Given the description of an element on the screen output the (x, y) to click on. 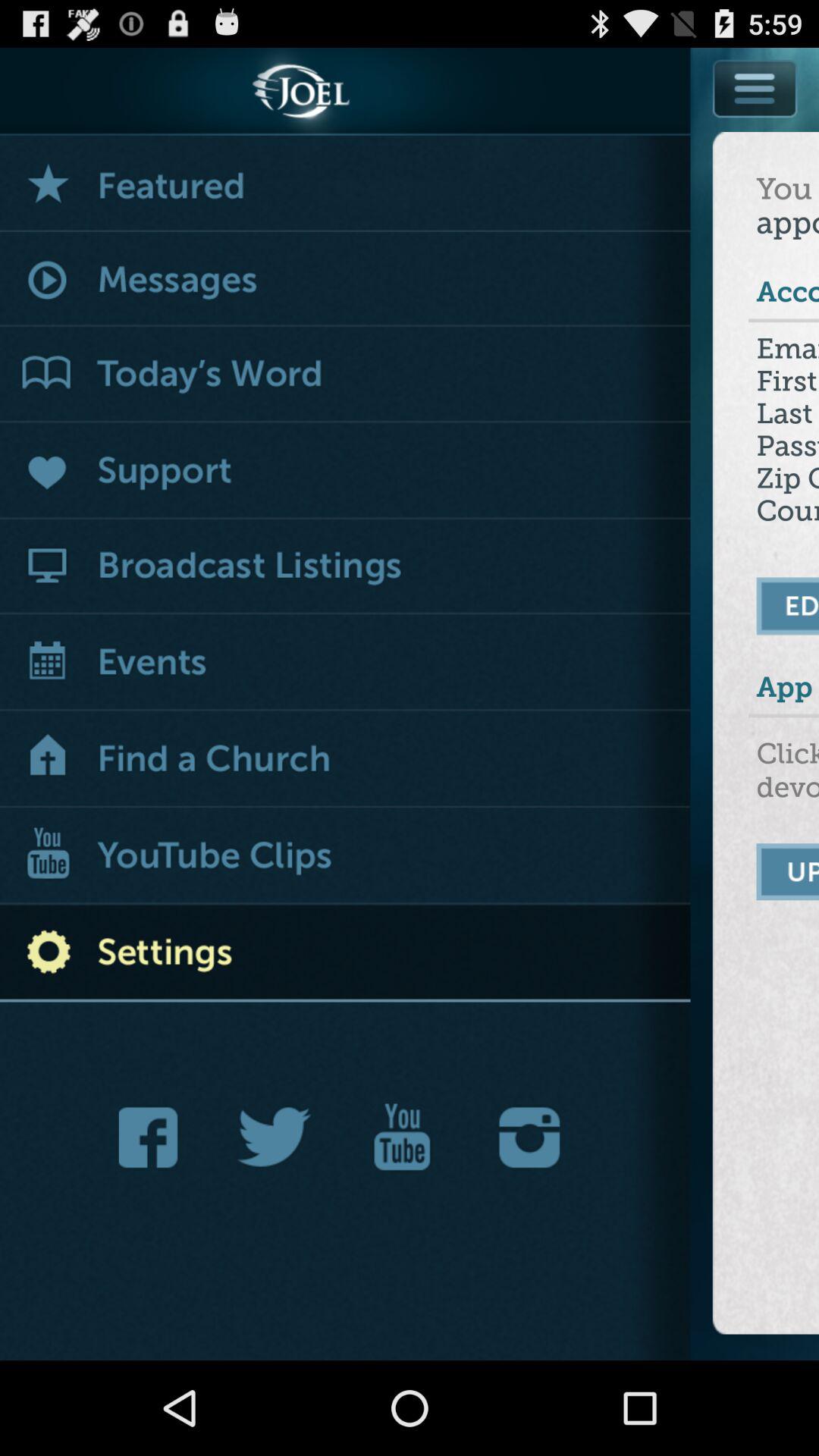
view events (345, 663)
